Given the description of an element on the screen output the (x, y) to click on. 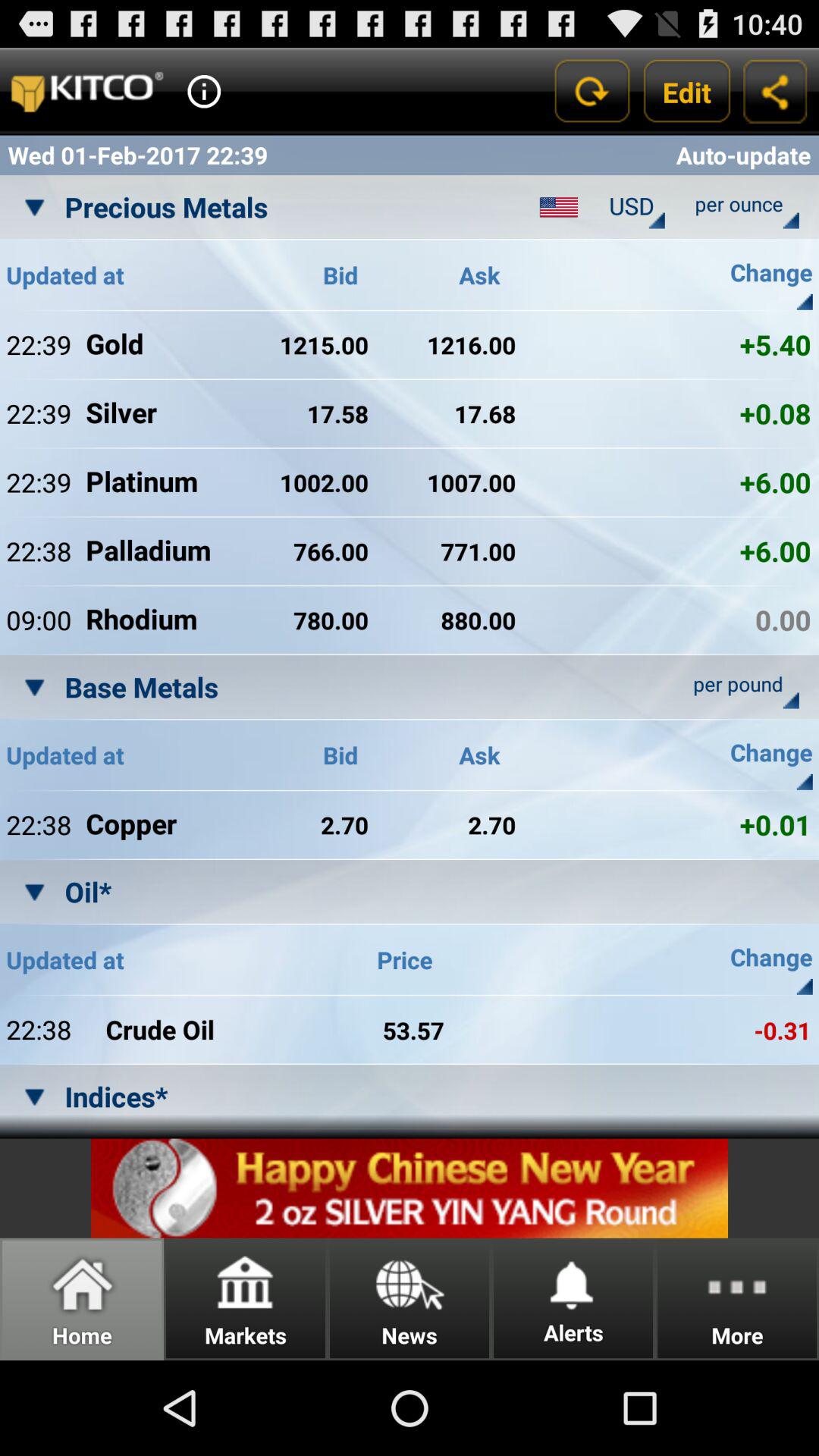
click for more info (204, 91)
